Given the description of an element on the screen output the (x, y) to click on. 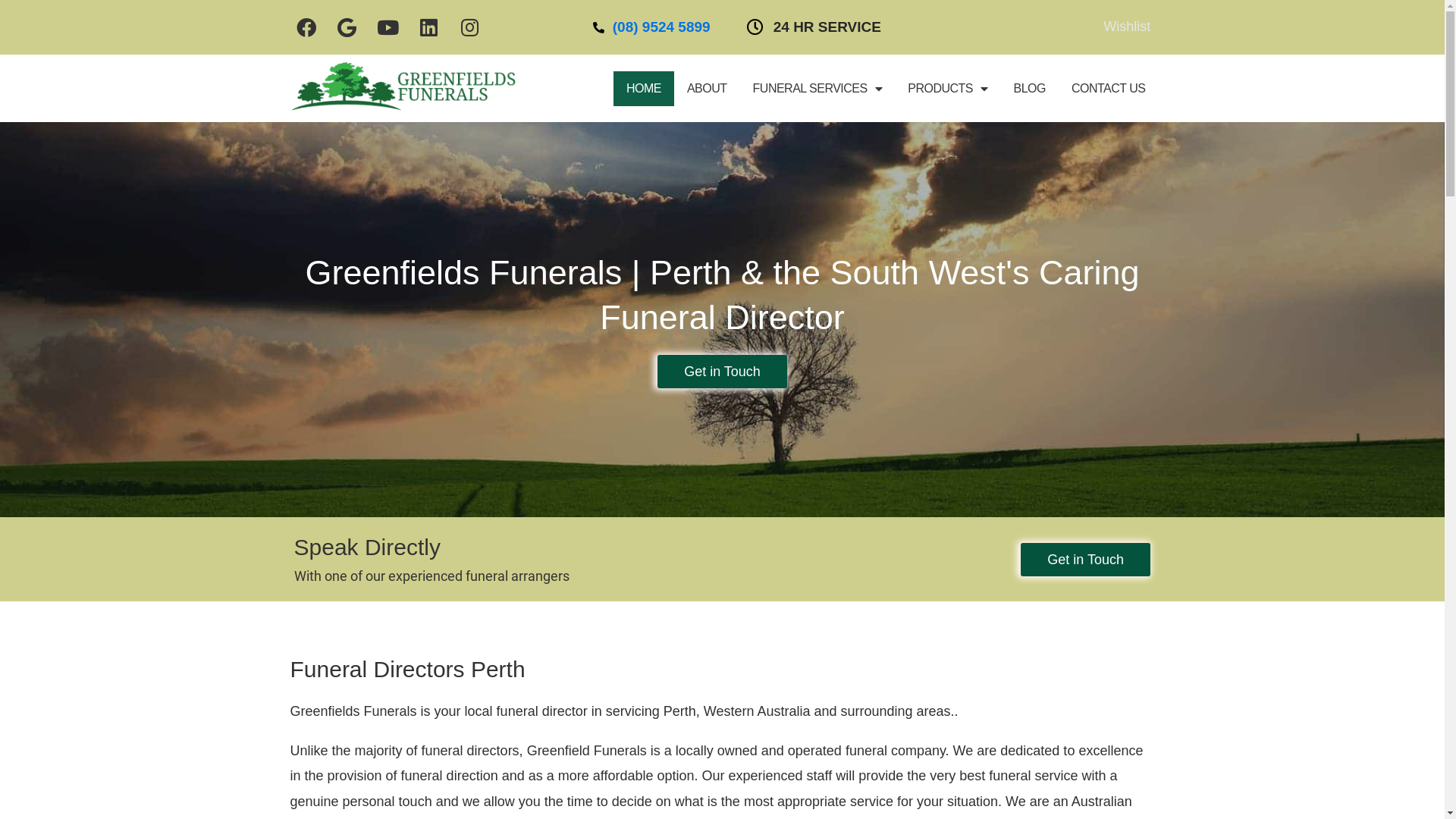
Wishlist Element type: text (1126, 26)
(08) 9524 5899 Element type: text (662, 26)
BLOG Element type: text (1028, 88)
Get in Touch Element type: text (722, 371)
HOME Element type: text (643, 88)
CONTACT US Element type: text (1108, 88)
FUNERAL SERVICES Element type: text (817, 88)
PRODUCTS Element type: text (947, 88)
Get in Touch Element type: text (1085, 559)
ABOUT Element type: text (707, 88)
